Given the description of an element on the screen output the (x, y) to click on. 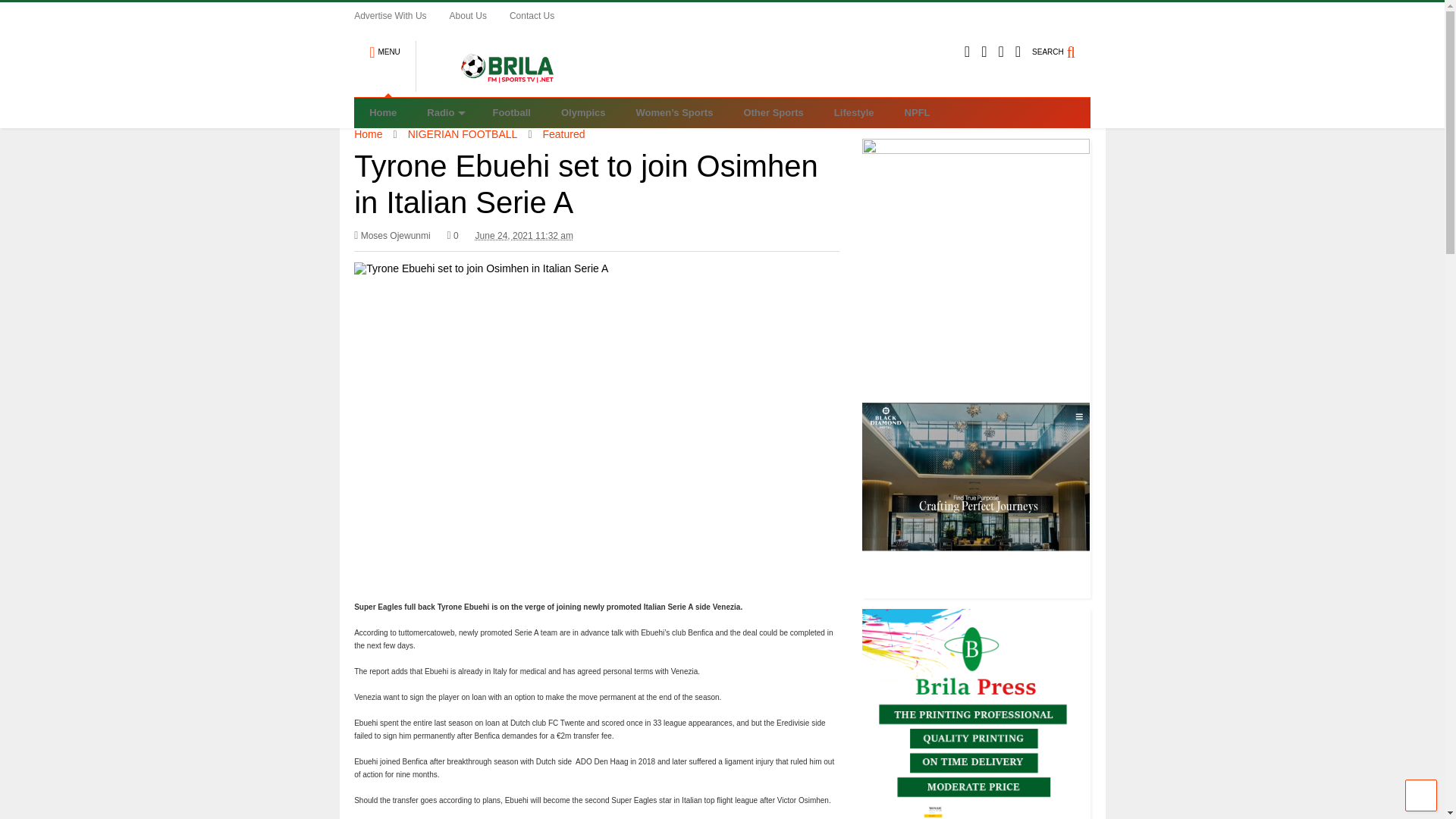
MENU (383, 45)
Featured (564, 133)
NIGERIAN FOOTBALL (462, 133)
SEARCH (1061, 45)
Other Sports (773, 112)
June 24, 2021 11:32 am (524, 235)
Latest Sports News In Nigeria (498, 84)
Home (367, 133)
Lifestyle (853, 112)
June 24, 2021 11:32 am (524, 235)
Moses Ojewunmi (391, 235)
Football (511, 112)
Contact Us (542, 15)
Radio (444, 112)
